Given the description of an element on the screen output the (x, y) to click on. 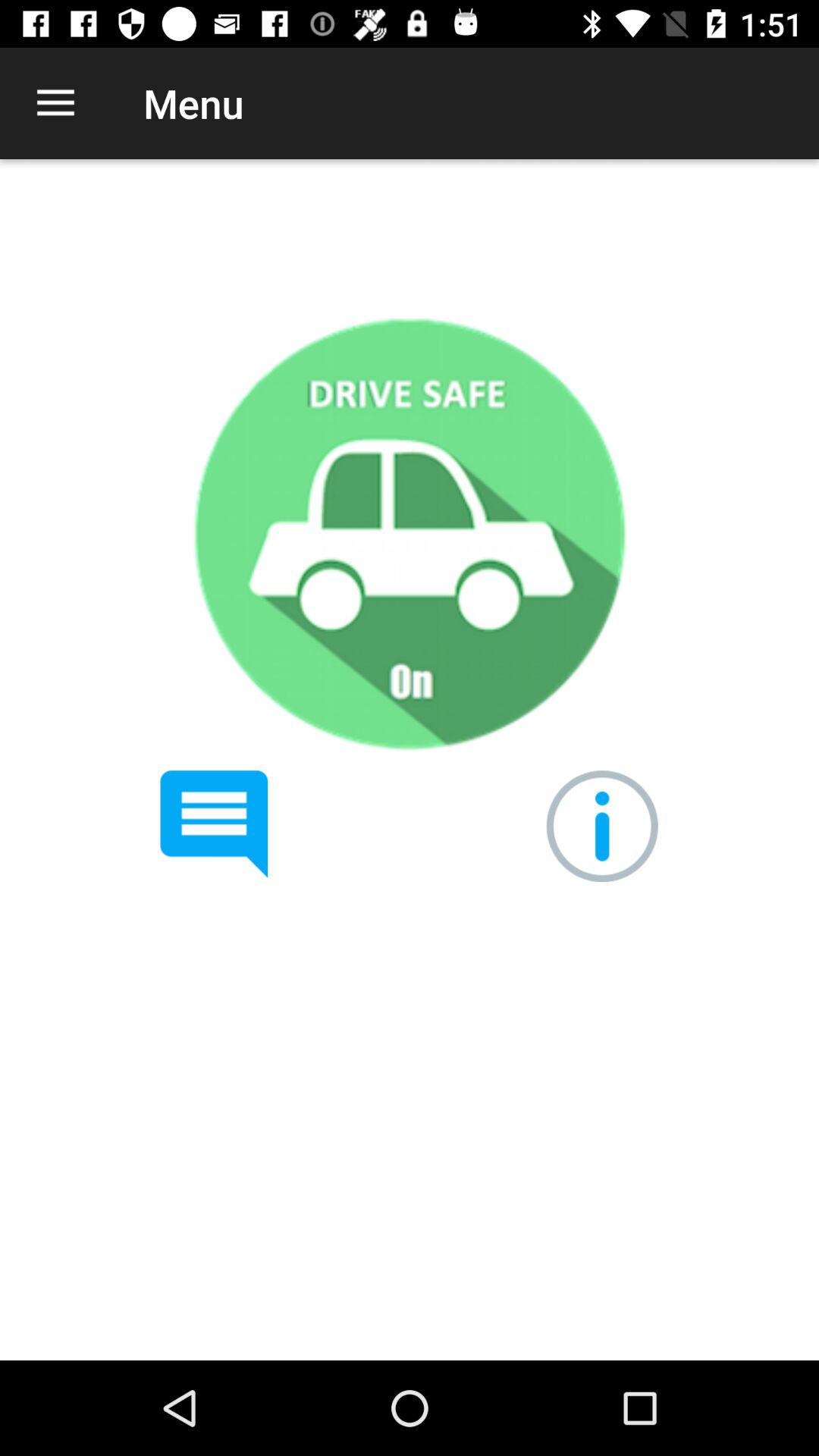
tap icon to the left of the menu (55, 103)
